Given the description of an element on the screen output the (x, y) to click on. 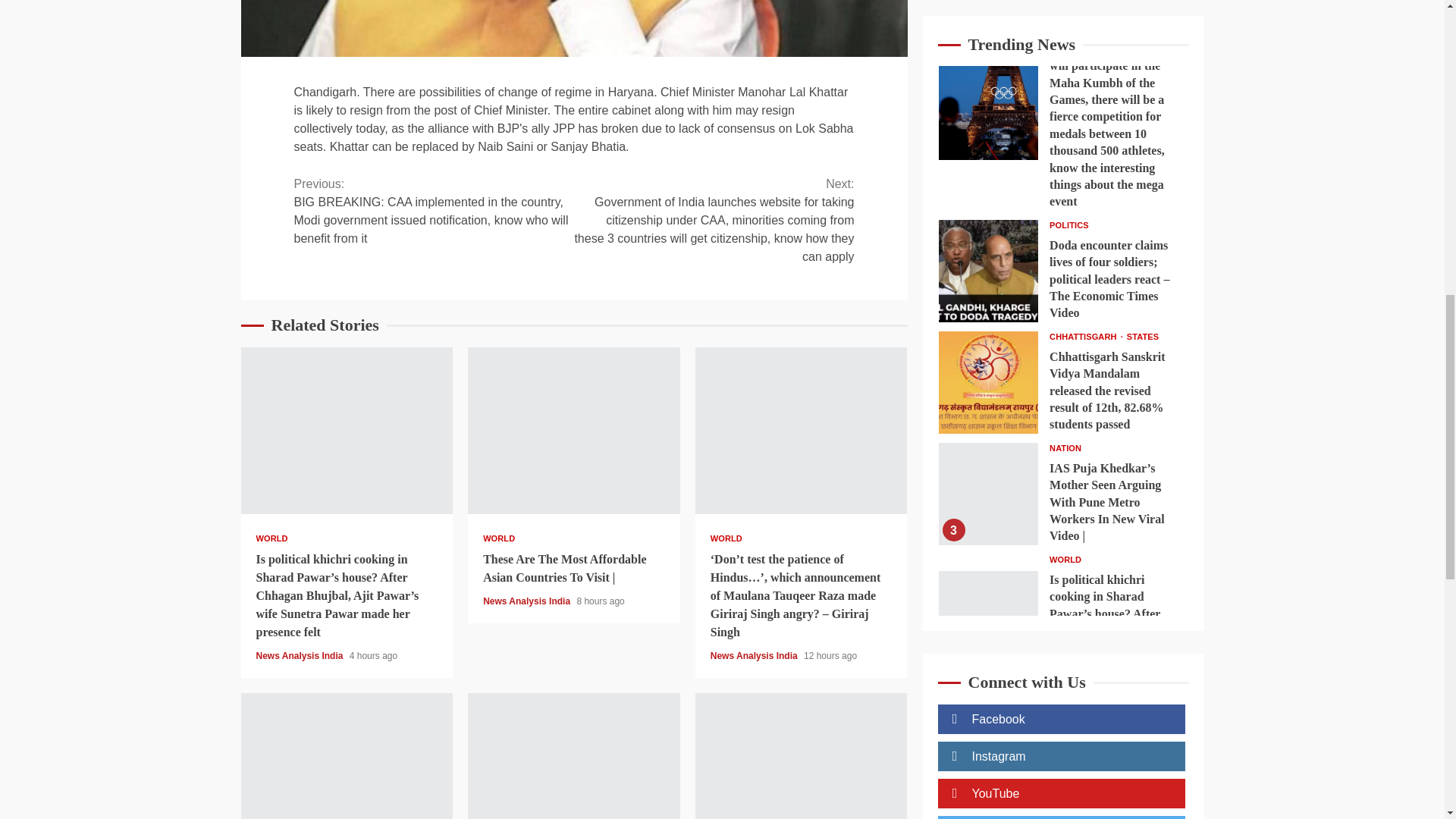
News Analysis India (301, 655)
WORLD (726, 538)
News Analysis India (527, 601)
WORLD (272, 538)
WORLD (499, 538)
News Analysis India (754, 655)
